Given the description of an element on the screen output the (x, y) to click on. 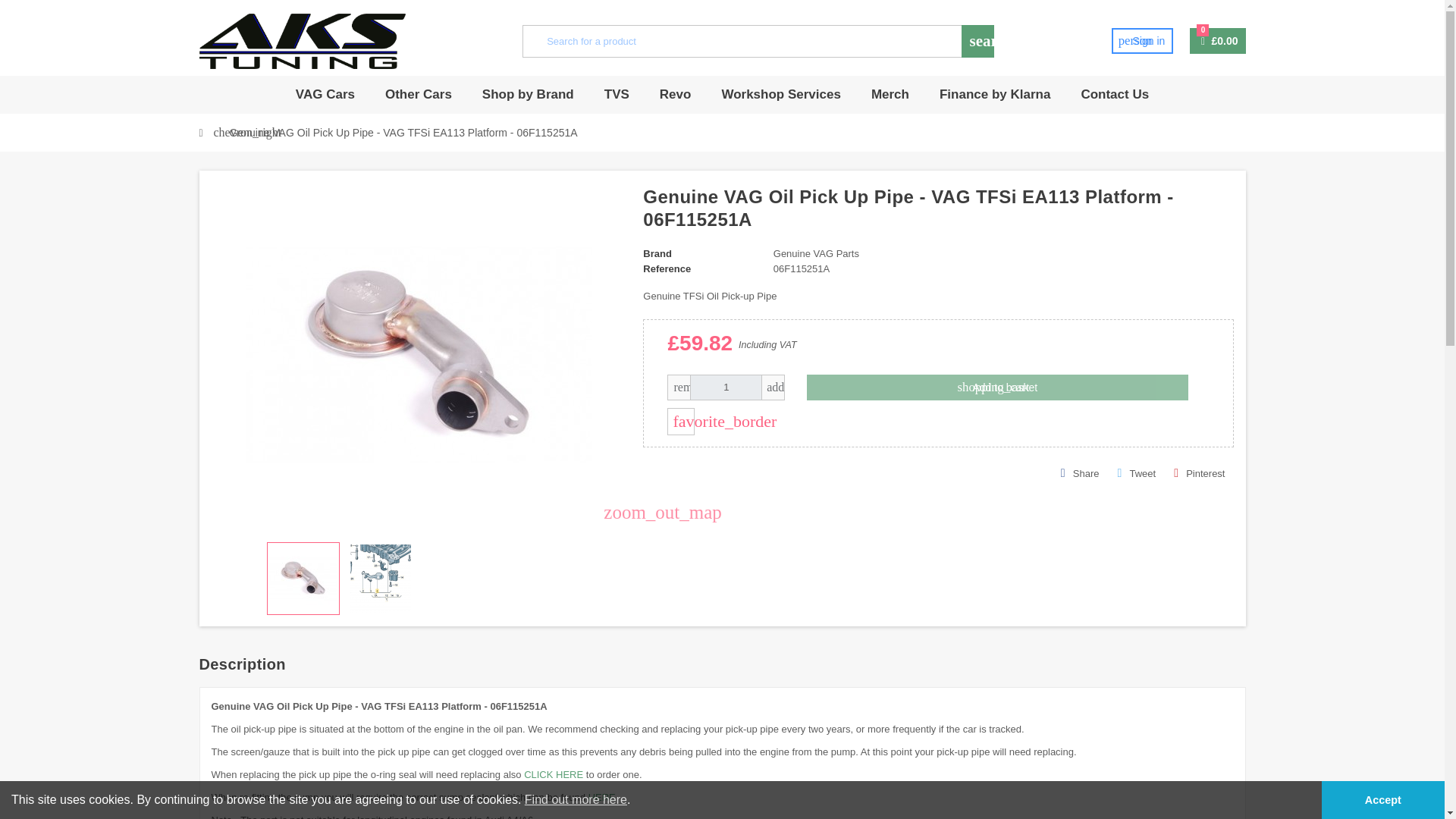
1 (725, 387)
search (977, 41)
AKS tuning (1142, 40)
Log in to your customer account (302, 40)
